Given the description of an element on the screen output the (x, y) to click on. 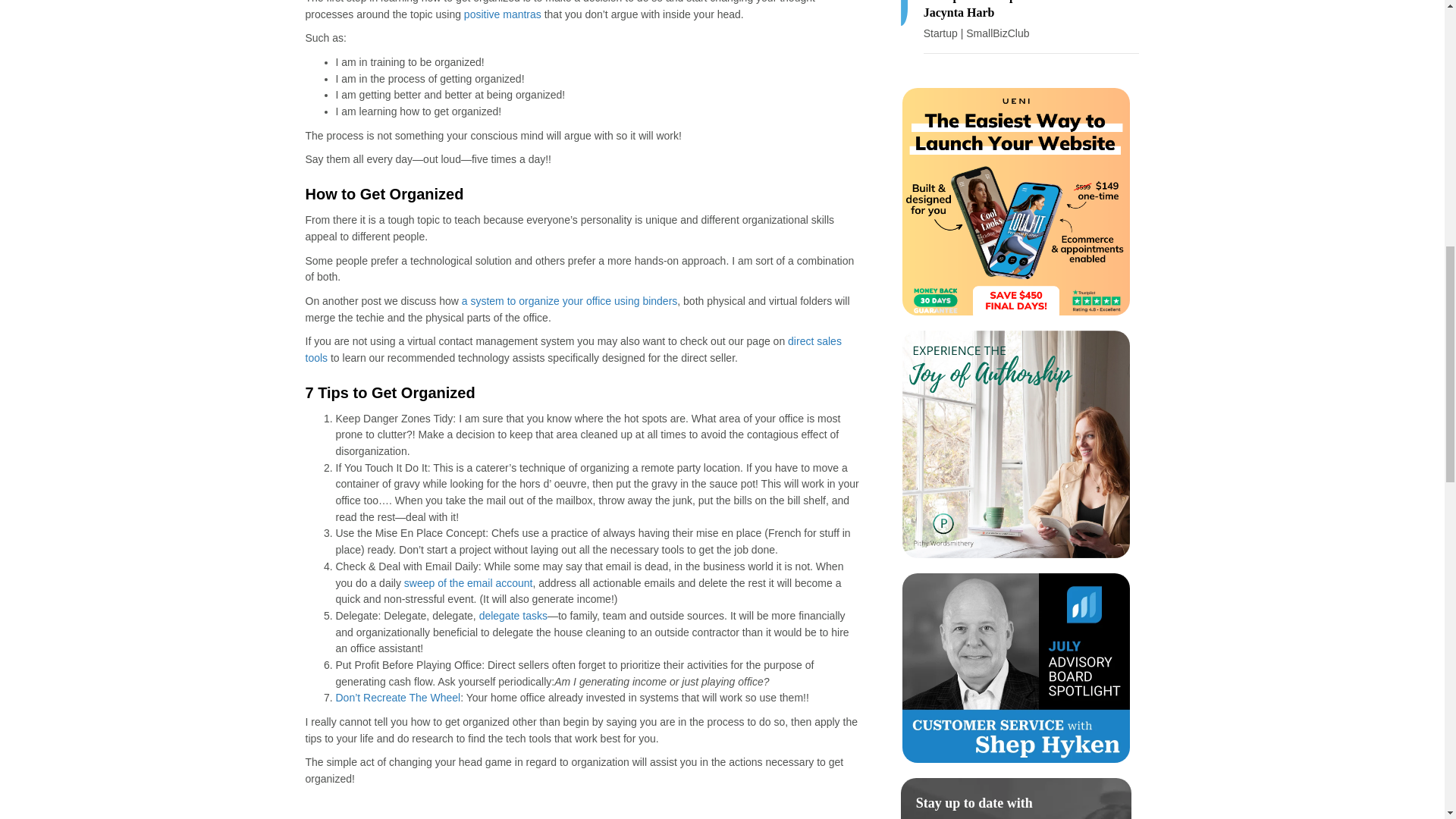
delegate tasks (513, 615)
positive mantras (502, 14)
a system to organize your office using binders (569, 300)
direct sales tools (572, 348)
IG Post 2 (1015, 443)
sweep of the email account (468, 582)
sbc-sidebar-img-ueni (1015, 201)
july-square (1015, 667)
